Given the description of an element on the screen output the (x, y) to click on. 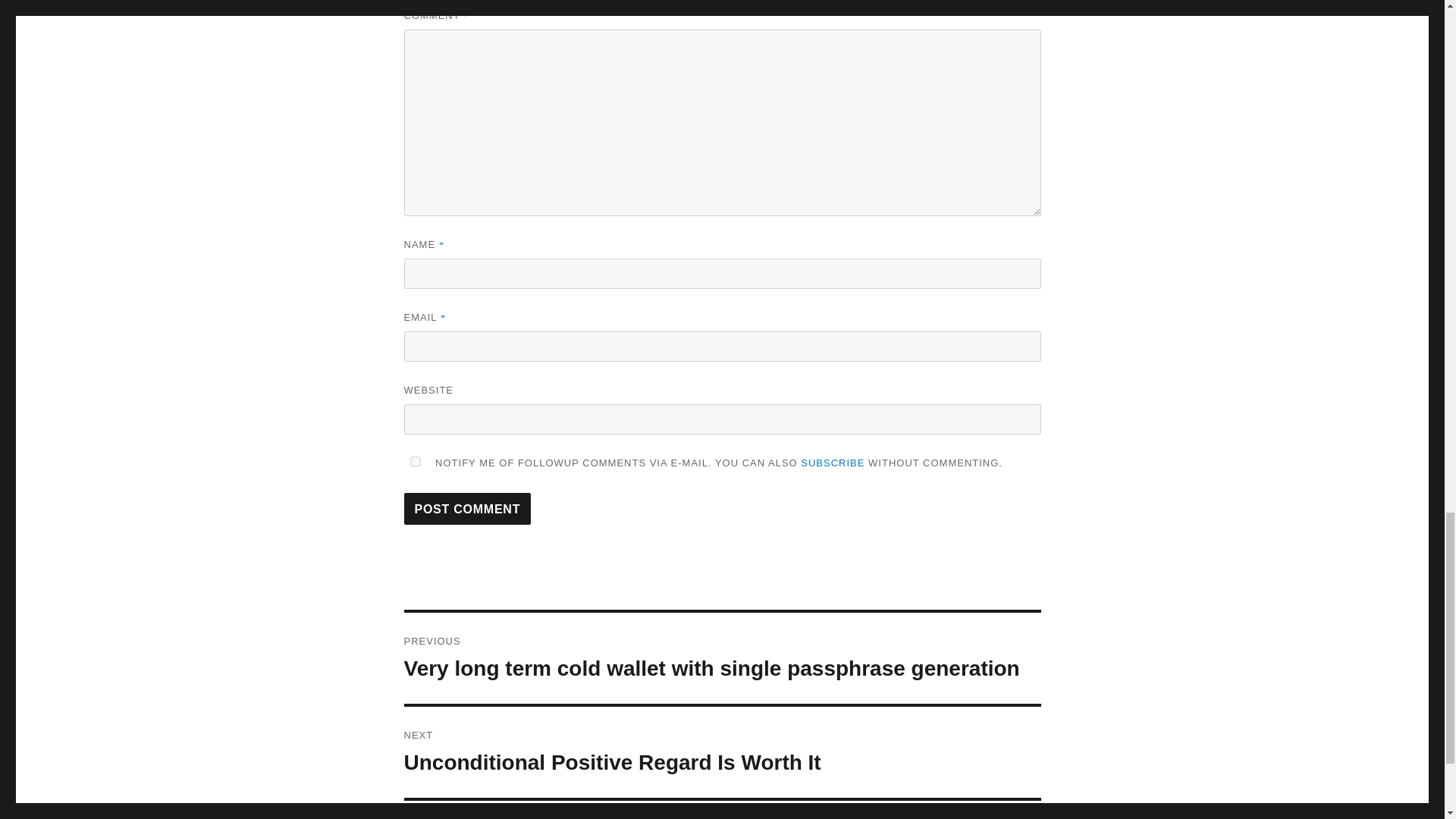
SUBSCRIBE (832, 462)
yes (414, 461)
Post Comment (467, 508)
Post Comment (722, 751)
